Given the description of an element on the screen output the (x, y) to click on. 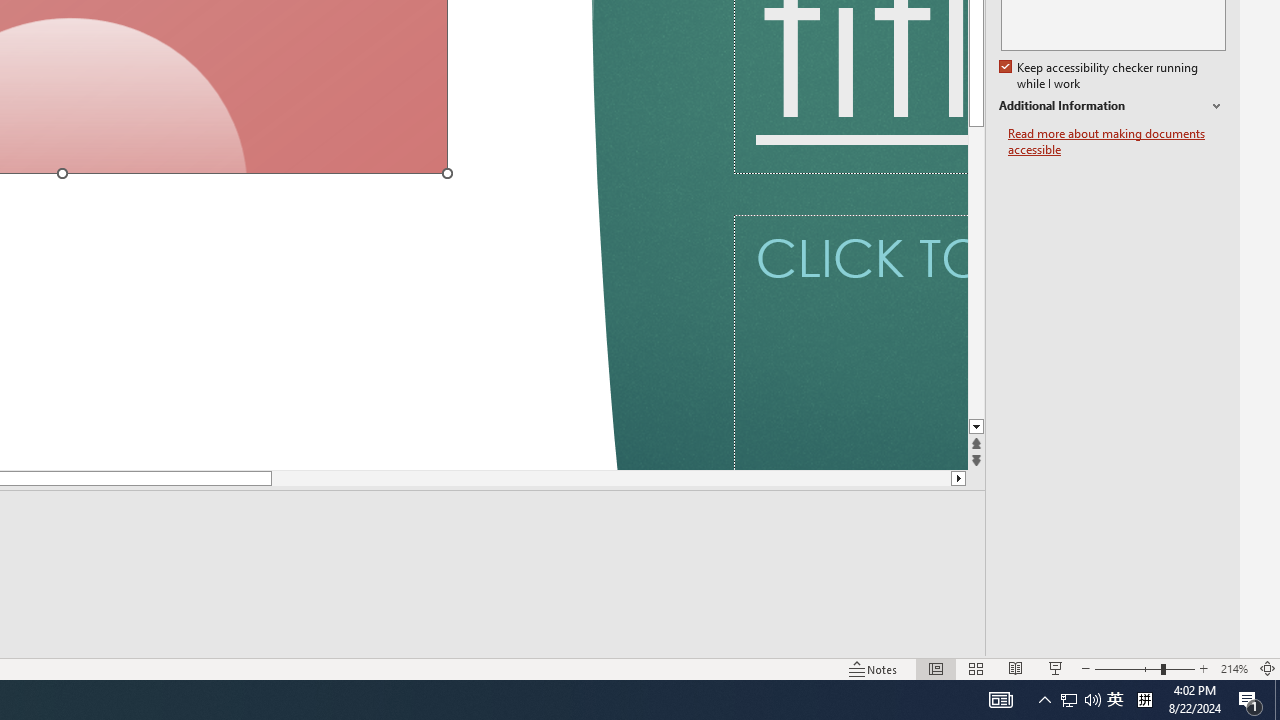
Read more about making documents accessible (1117, 142)
